Given the description of an element on the screen output the (x, y) to click on. 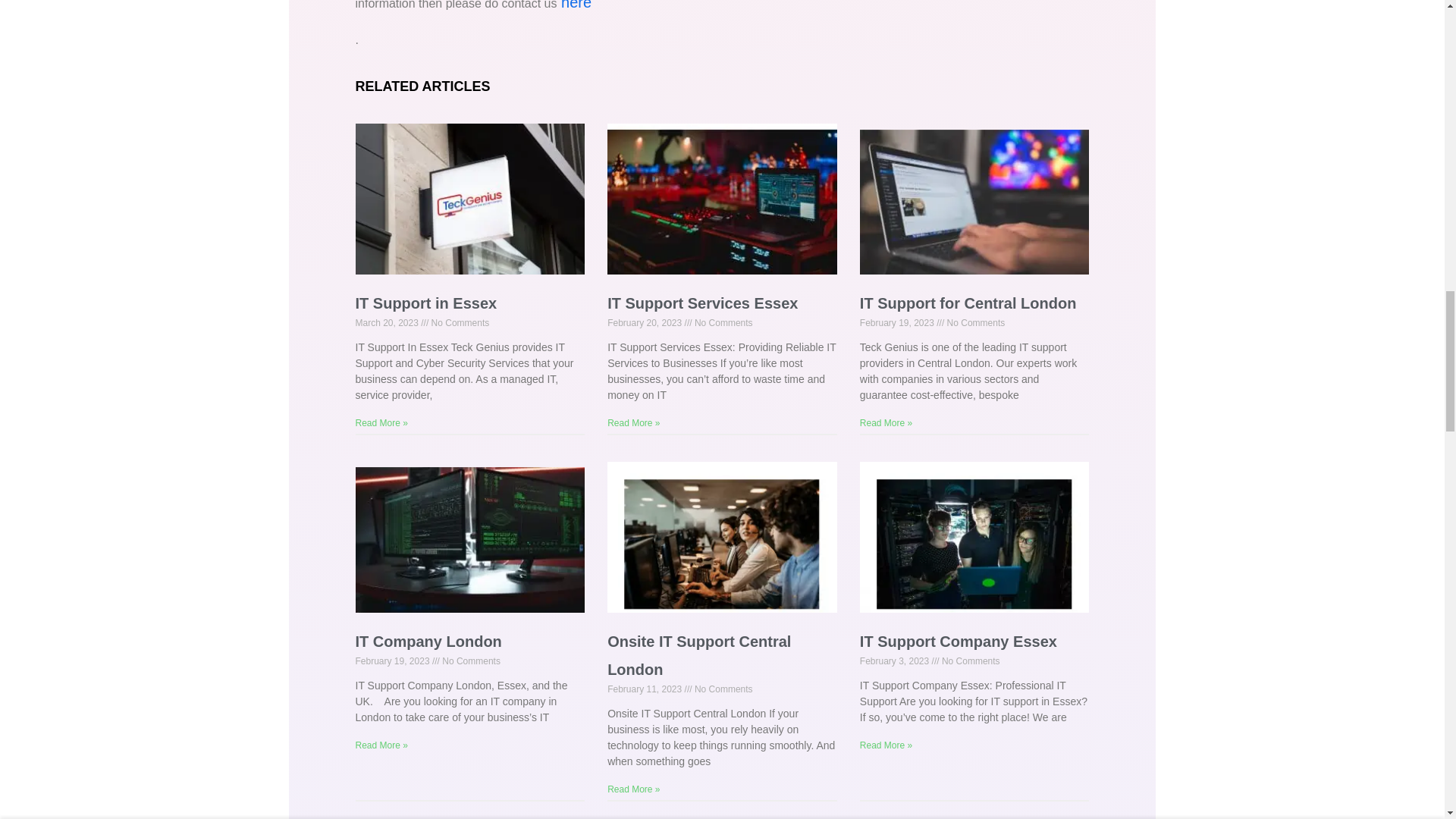
5 Benefits of Web Filtering for your Business 154 (720, 543)
5 Benefits of Web Filtering for your Business 151 (720, 205)
5 Benefits of Web Filtering for your Business 153 (468, 543)
5 Benefits of Web Filtering for your Business 155 (973, 543)
5 Benefits of Web Filtering for your Business 150 (468, 205)
5 Benefits of Web Filtering for your Business 152 (973, 205)
